Given the description of an element on the screen output the (x, y) to click on. 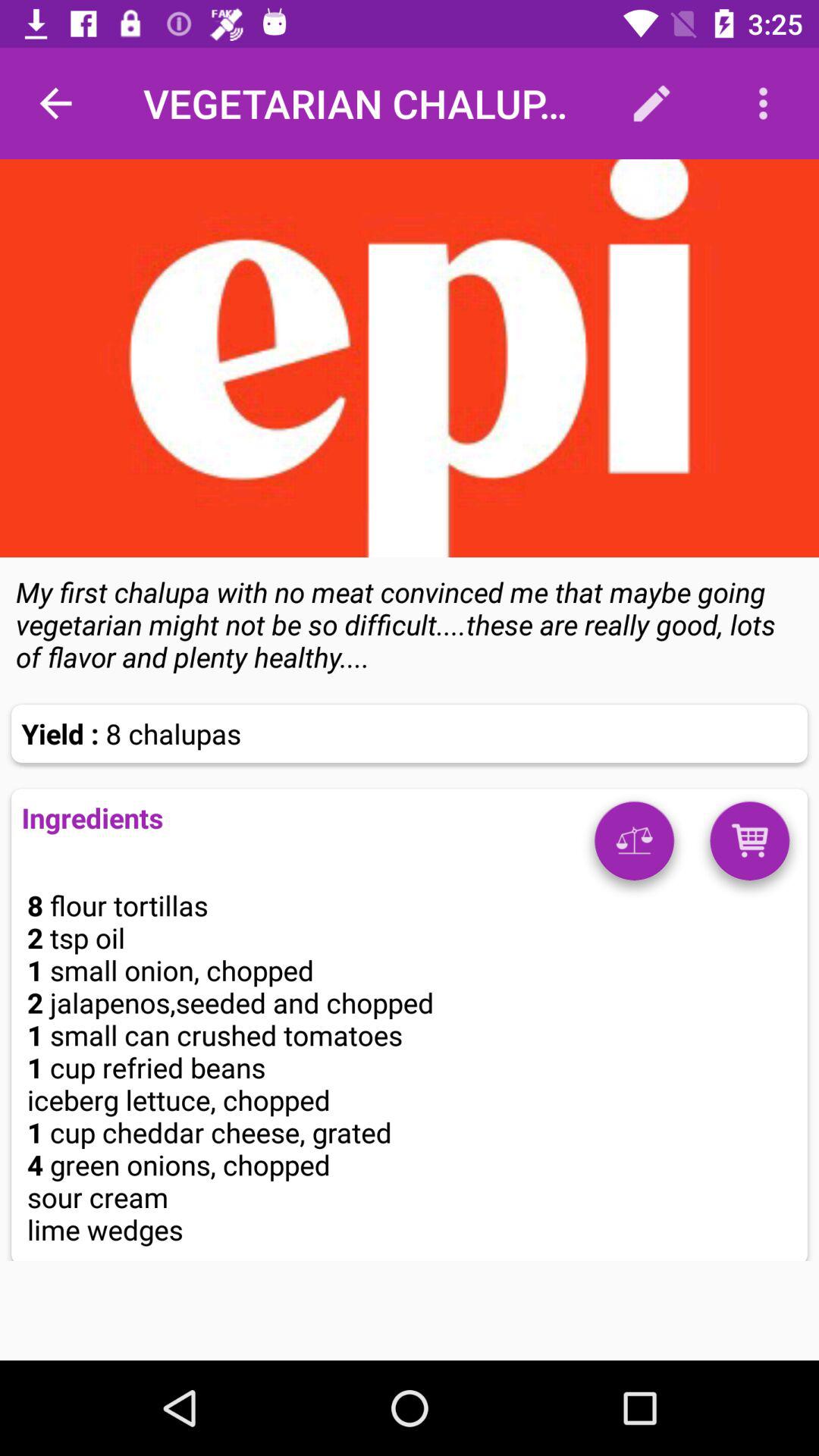
view information (634, 846)
